Given the description of an element on the screen output the (x, y) to click on. 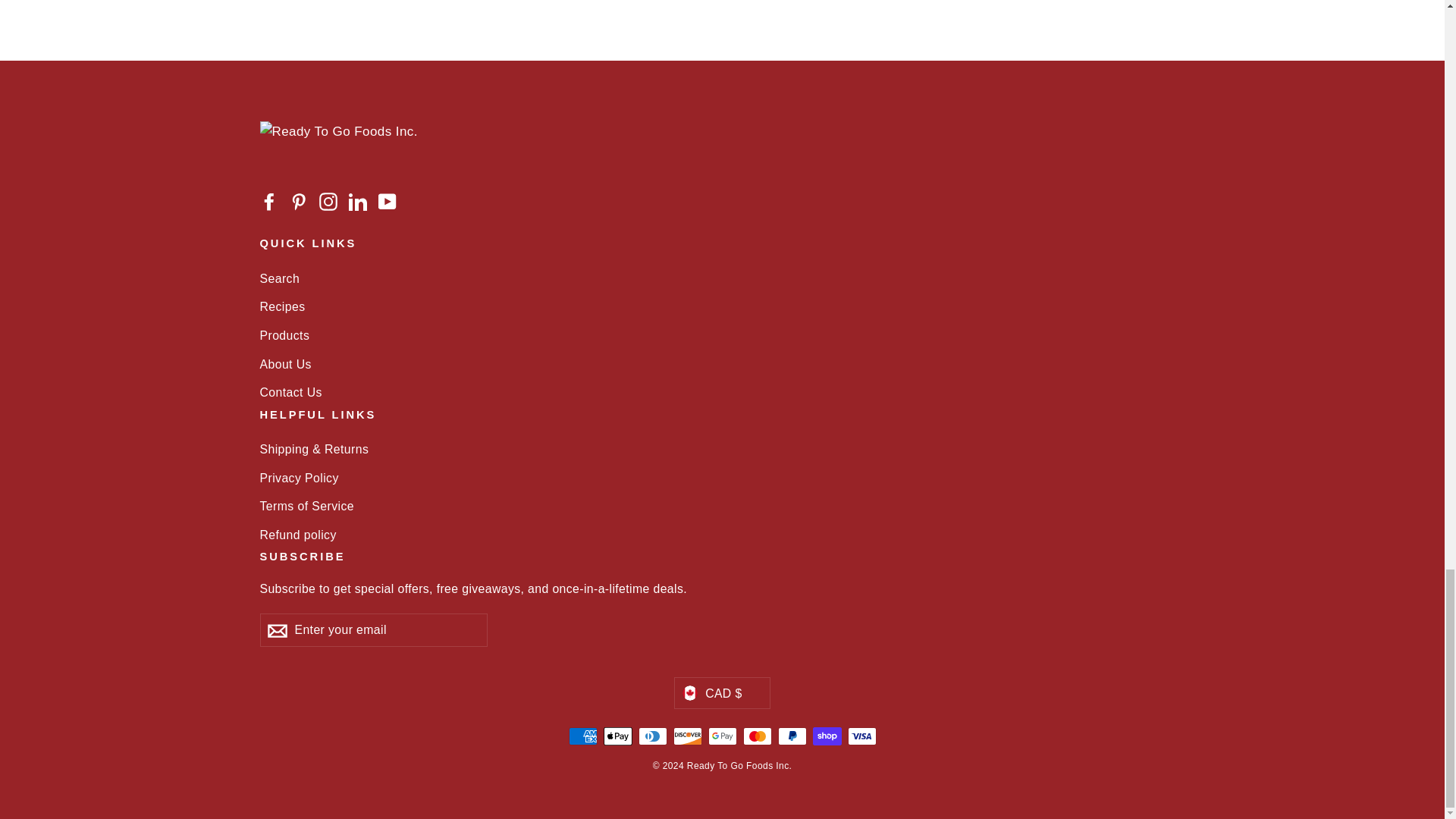
Ready To Go Foods Inc. on LinkedIn (357, 200)
Discover (686, 736)
Google Pay (721, 736)
Ready To Go Foods Inc. on Instagram (327, 200)
Apple Pay (617, 736)
Mastercard (756, 736)
Ready To Go Foods Inc. on Pinterest (298, 200)
American Express (582, 736)
Diners Club (652, 736)
PayPal (791, 736)
